Given the description of an element on the screen output the (x, y) to click on. 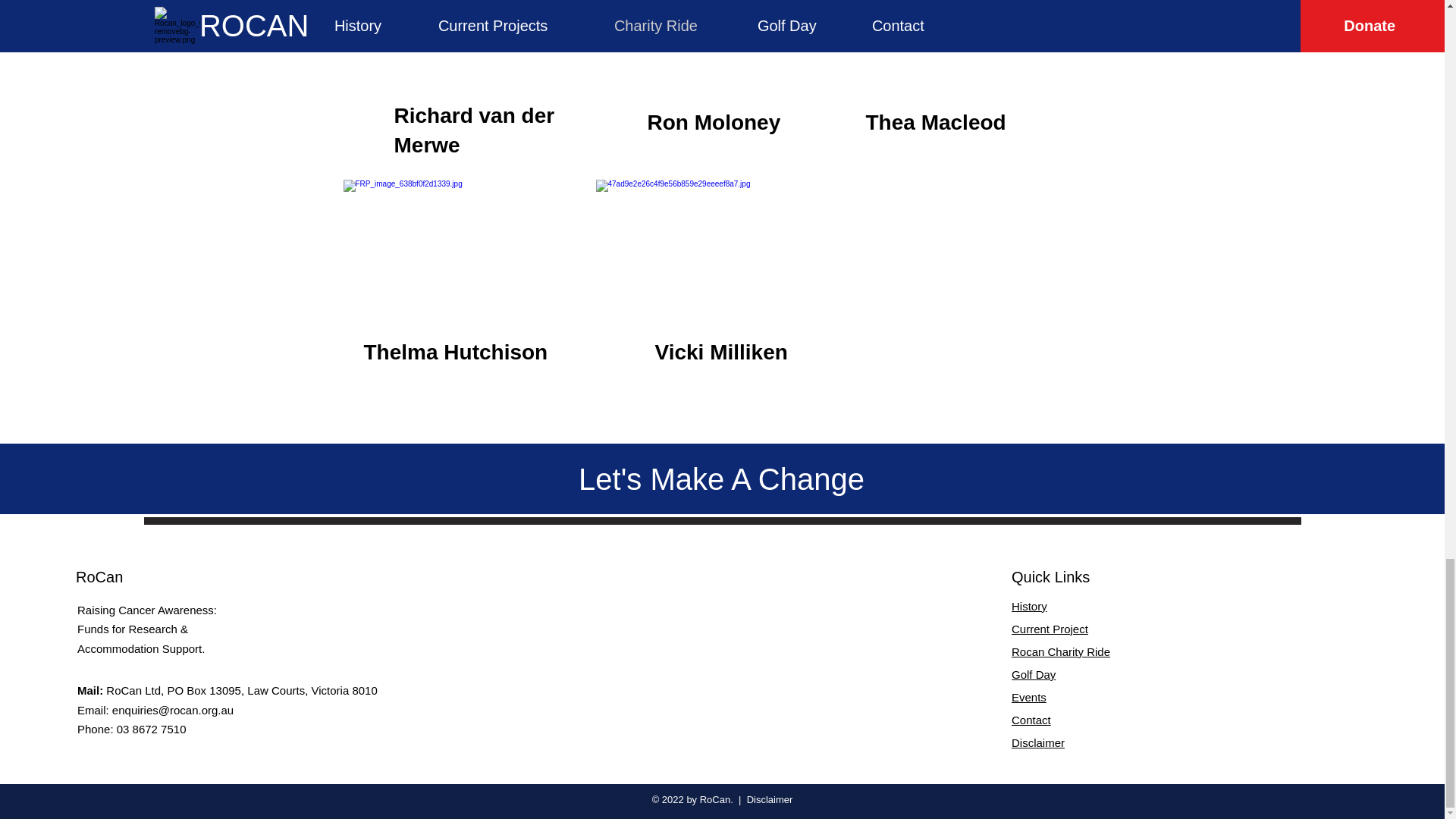
Current Project (1049, 628)
Disclaimer (1037, 742)
Rocan Charity Ride (1060, 651)
Events (1028, 697)
History (1028, 605)
Disclaimer (769, 799)
Contact (1031, 719)
Golf Day (1033, 674)
